Given the description of an element on the screen output the (x, y) to click on. 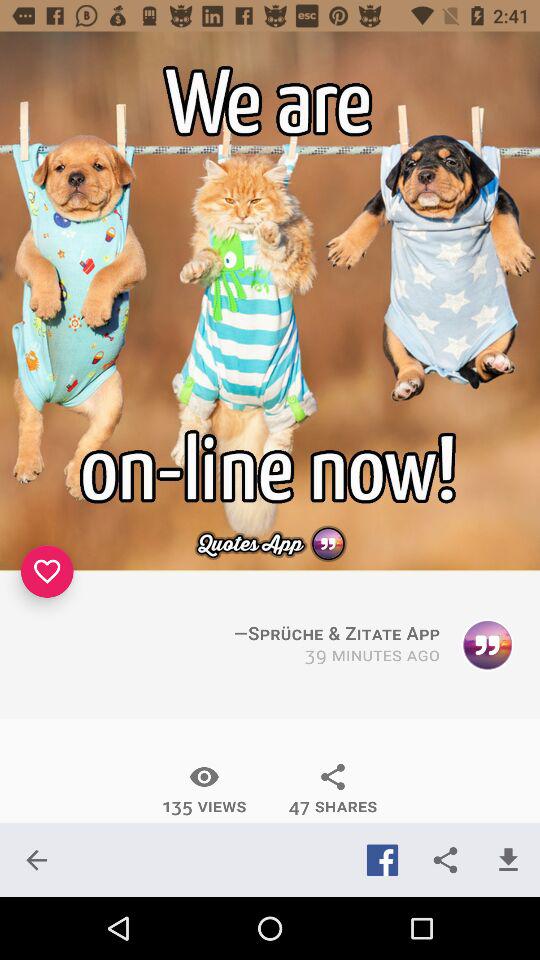
tap 47 shares icon (332, 789)
